Given the description of an element on the screen output the (x, y) to click on. 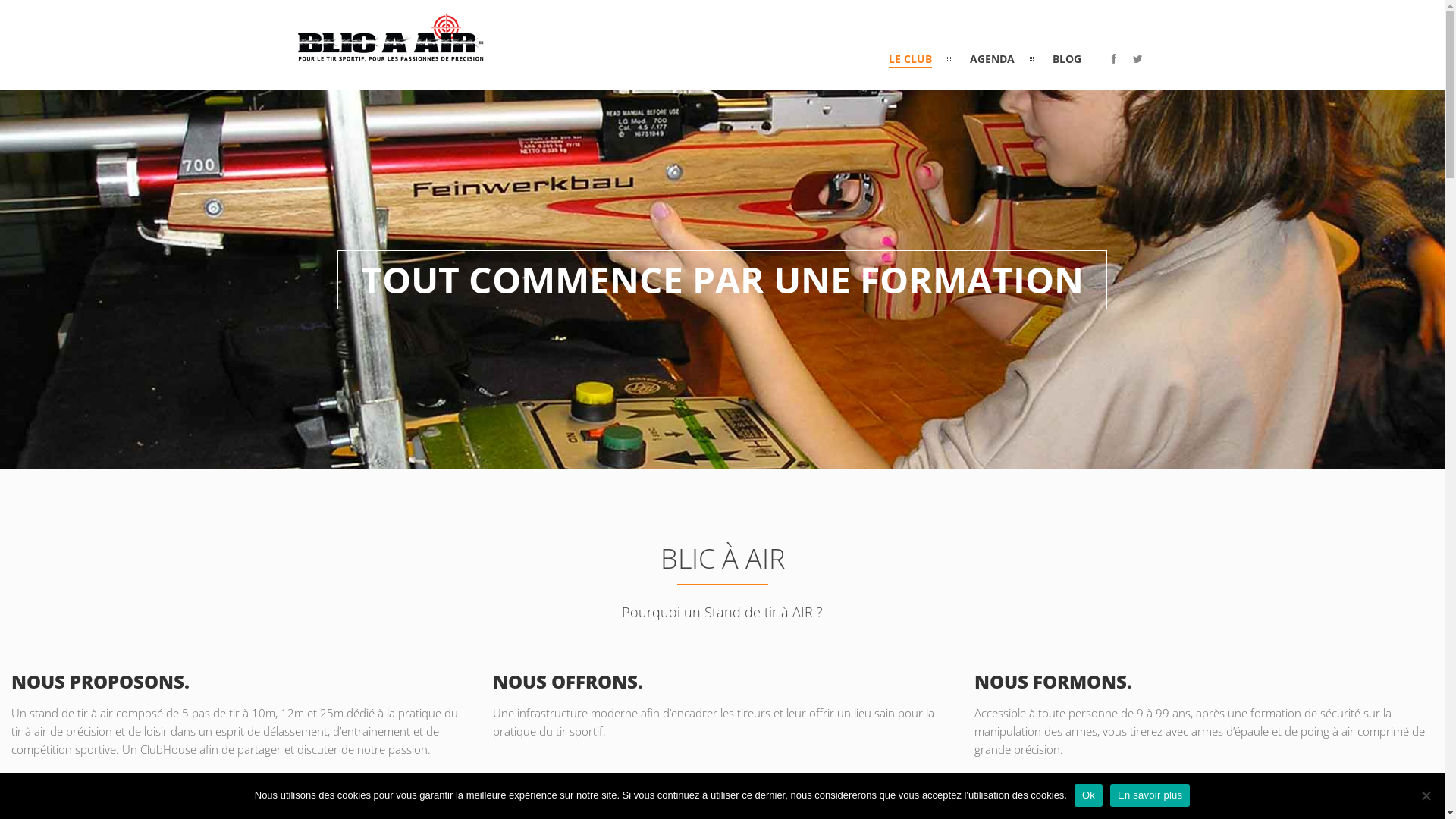
AGENDA Element type: text (992, 58)
Ok Element type: text (1088, 795)
LE CLUB Element type: text (910, 58)
BLOG Element type: text (1066, 58)
facebook Element type: hover (1113, 59)
BLIC A AIR Element type: hover (390, 53)
twitter Element type: hover (1137, 59)
En savoir plus Element type: text (1149, 795)
